Given the description of an element on the screen output the (x, y) to click on. 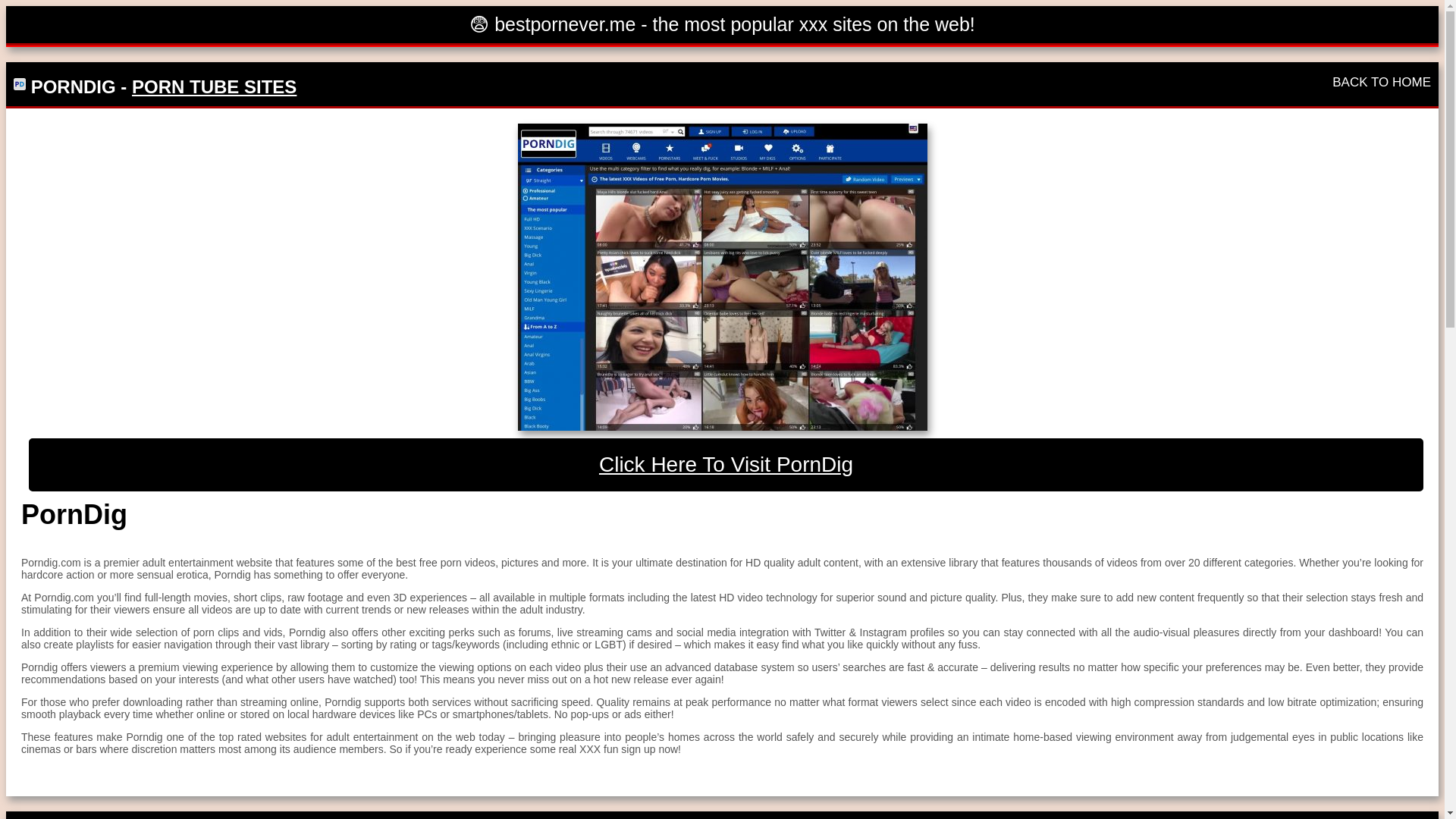
PORN TUBE SITES (214, 86)
PornDig (721, 276)
Click Here To Visit PornDig (726, 464)
PornDig (726, 464)
BACK TO HOME (1381, 82)
